Given the description of an element on the screen output the (x, y) to click on. 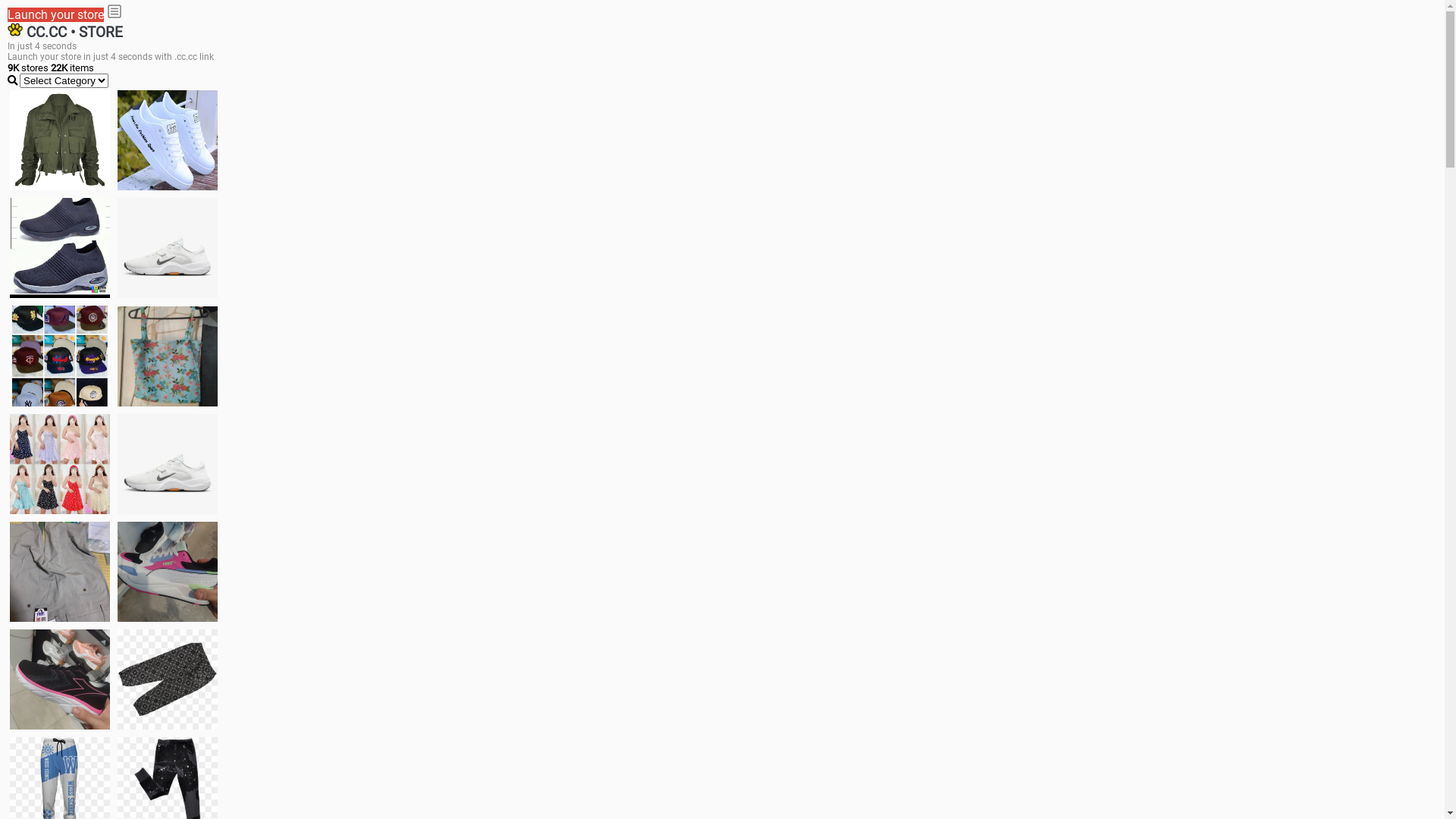
Ukay cloth Element type: hover (167, 356)
shoes for boys Element type: hover (59, 247)
jacket Element type: hover (59, 140)
Shoes for boys Element type: hover (167, 247)
Dress/square nect top Element type: hover (59, 464)
Launch your store Element type: text (55, 14)
Zapatillas pumas Element type: hover (167, 571)
white shoes Element type: hover (167, 140)
Shoes Element type: hover (167, 464)
Things we need Element type: hover (59, 355)
Zapatillas Element type: hover (59, 679)
Short pant Element type: hover (167, 679)
